Given the description of an element on the screen output the (x, y) to click on. 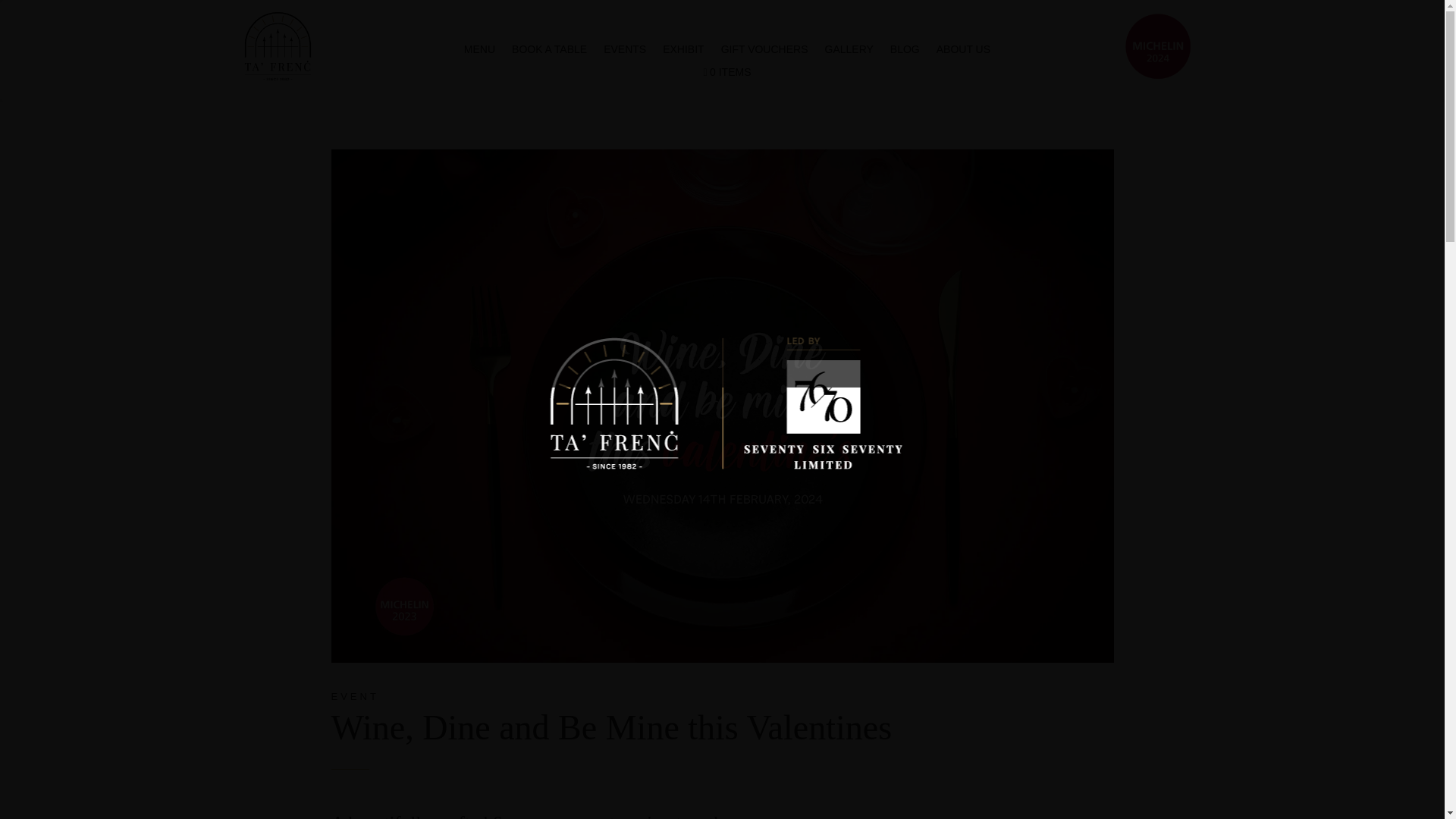
0 ITEMS (727, 75)
EVENTS (625, 52)
ABOUT US (963, 52)
GALLERY (849, 52)
GIFT VOUCHERS (764, 52)
MICHELIN GUIDE (1158, 46)
BOOK A TABLE (549, 52)
Ta' Frenc (277, 46)
BLOG (904, 52)
Start shopping (727, 75)
